Given the description of an element on the screen output the (x, y) to click on. 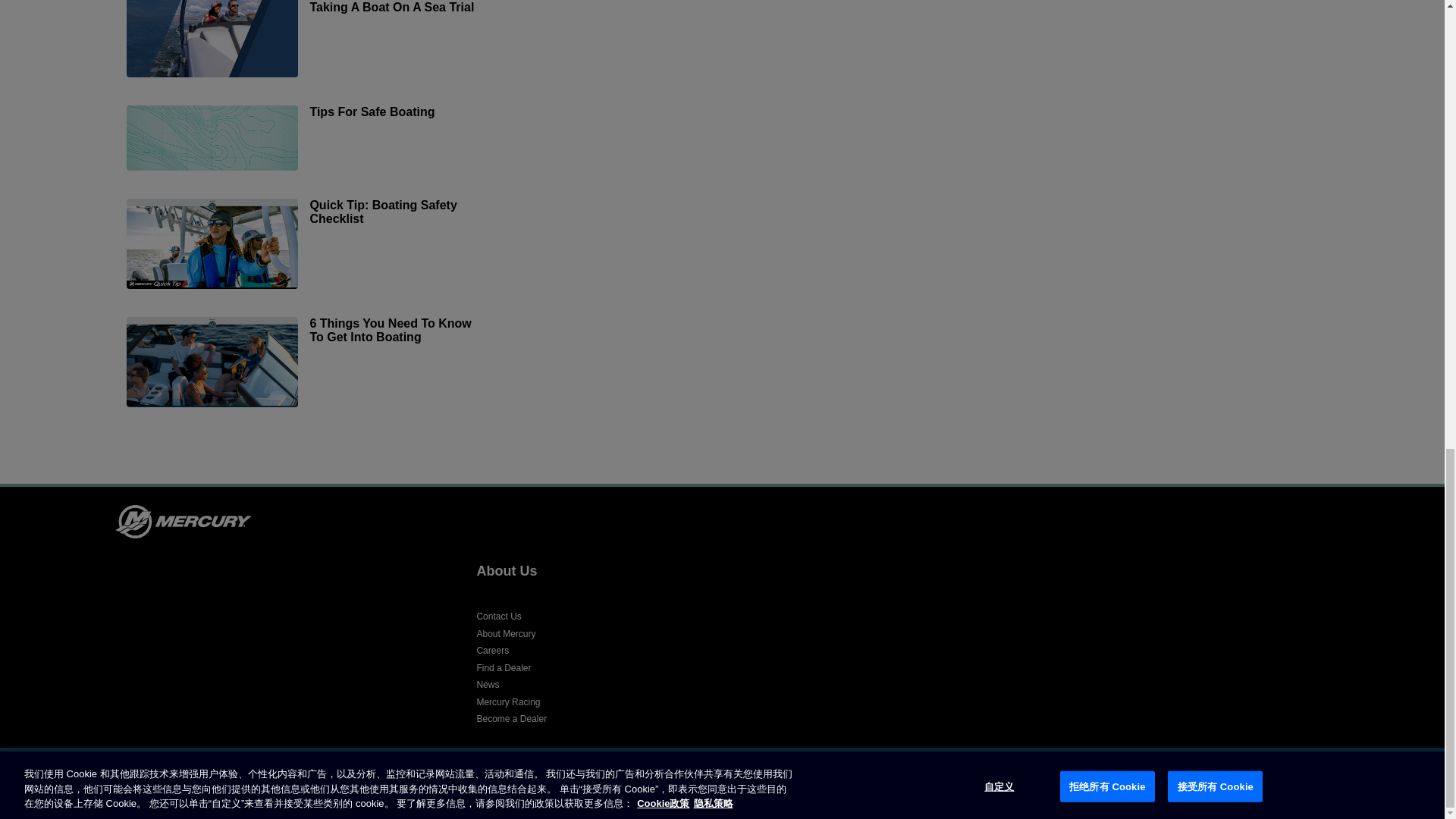
Tips for Safe Boating (309, 139)
10 Steps to Follow When Taking a Boat on a Sea Trial (309, 40)
Quick Tip: Boating Safety Checklist (309, 245)
6 Things You Need to Know to Get into Boating (309, 363)
